Given the description of an element on the screen output the (x, y) to click on. 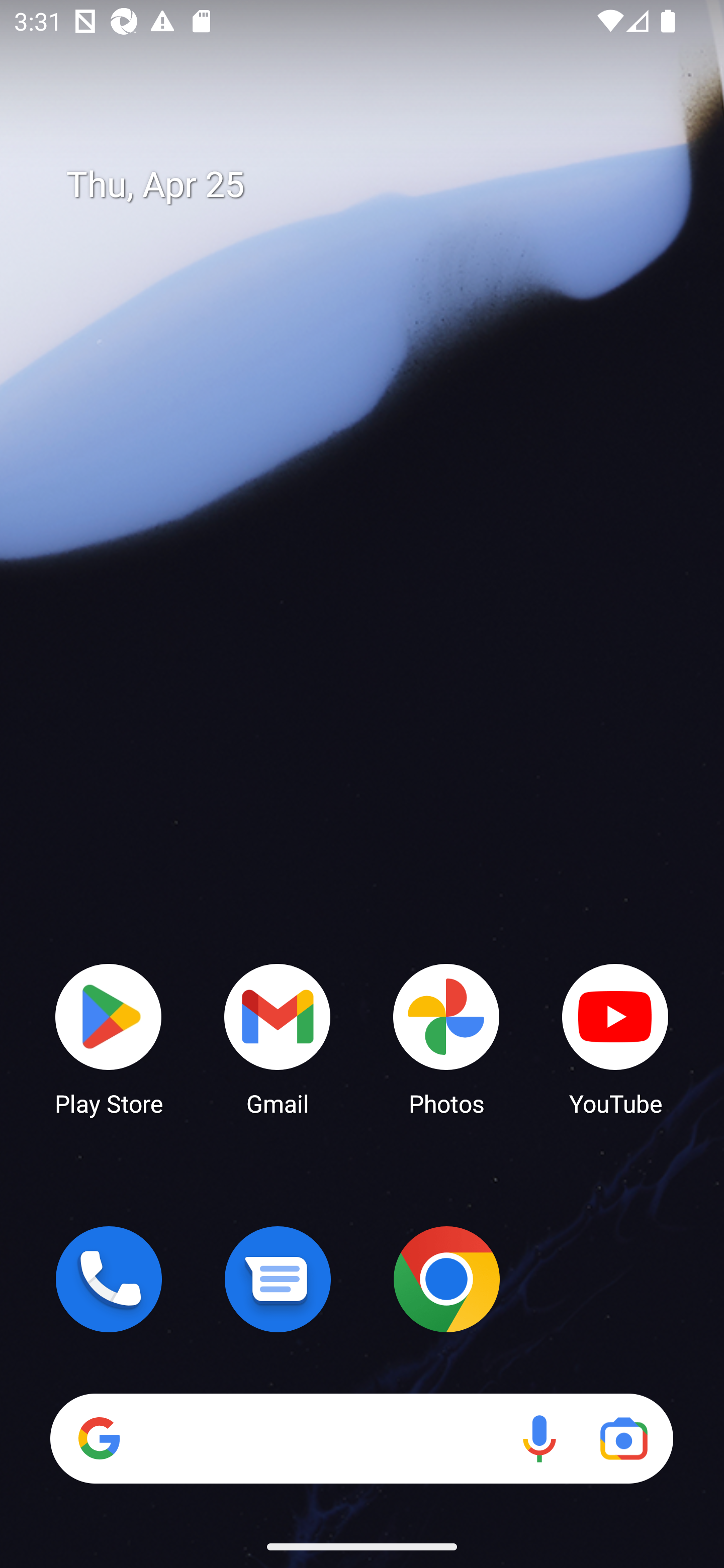
Thu, Apr 25 (375, 184)
Play Store (108, 1038)
Gmail (277, 1038)
Photos (445, 1038)
YouTube (615, 1038)
Phone (108, 1279)
Messages (277, 1279)
Chrome (446, 1279)
Search Voice search Google Lens (361, 1438)
Voice search (539, 1438)
Google Lens (623, 1438)
